Given the description of an element on the screen output the (x, y) to click on. 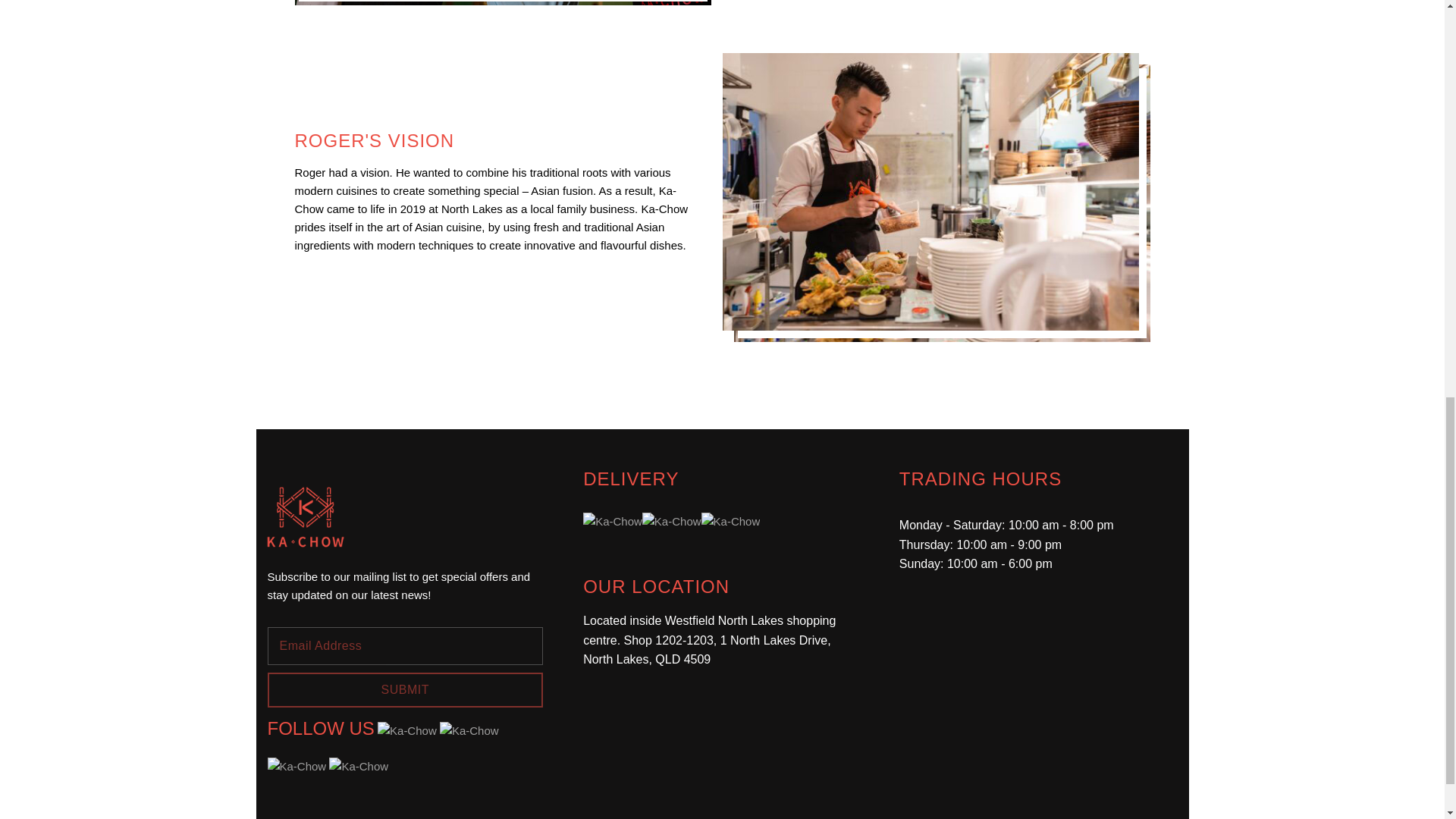
UBEREATS (671, 521)
Submit (404, 689)
DOORDASH (612, 521)
Submit (404, 689)
